Given the description of an element on the screen output the (x, y) to click on. 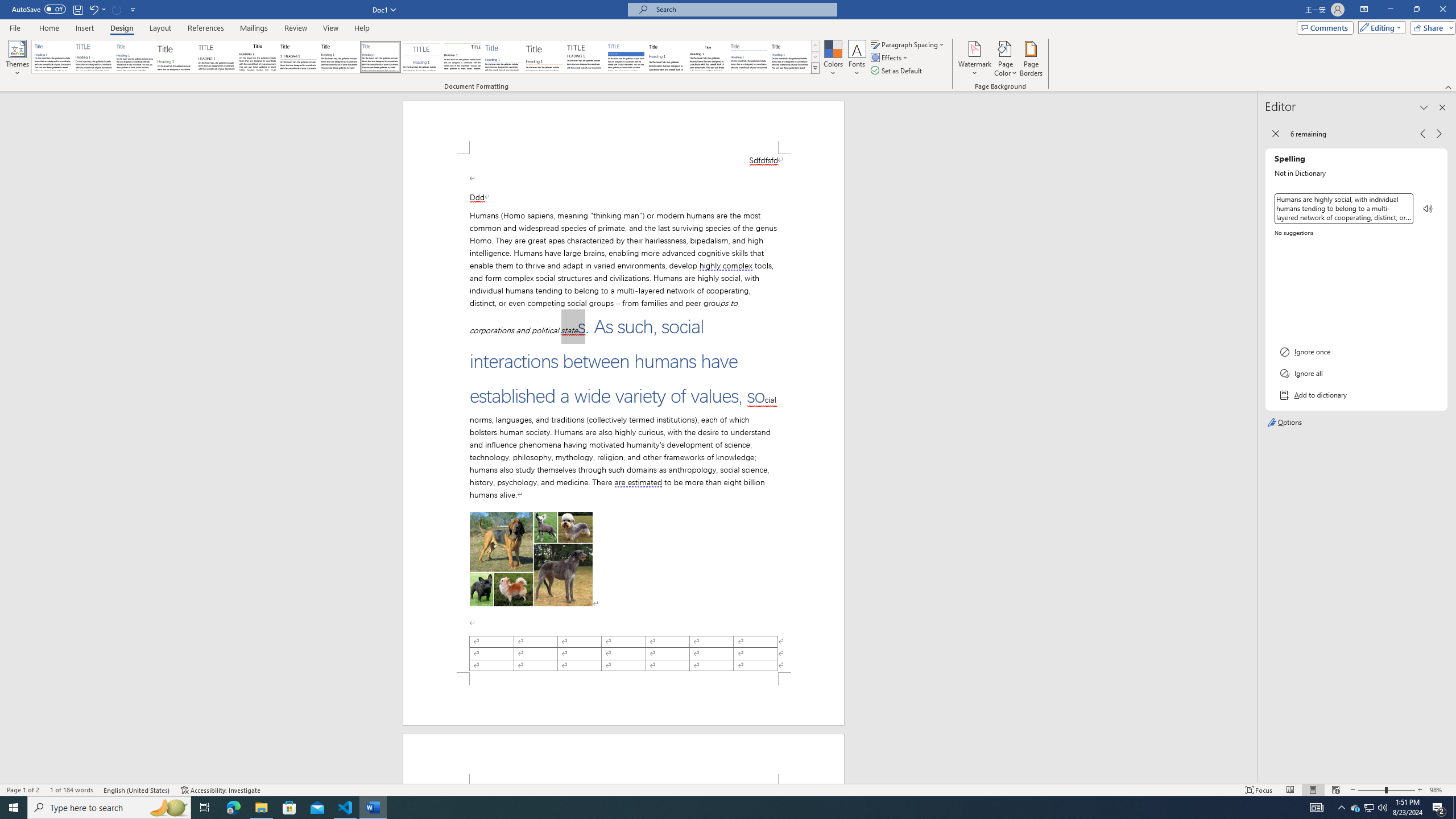
Page Color (1005, 58)
Black & White (Capitalized) (216, 56)
Word 2010 (749, 56)
Colors (832, 58)
Word (666, 56)
Basic (Elegant) (93, 56)
Black & White (Numbered) (298, 56)
